Given the description of an element on the screen output the (x, y) to click on. 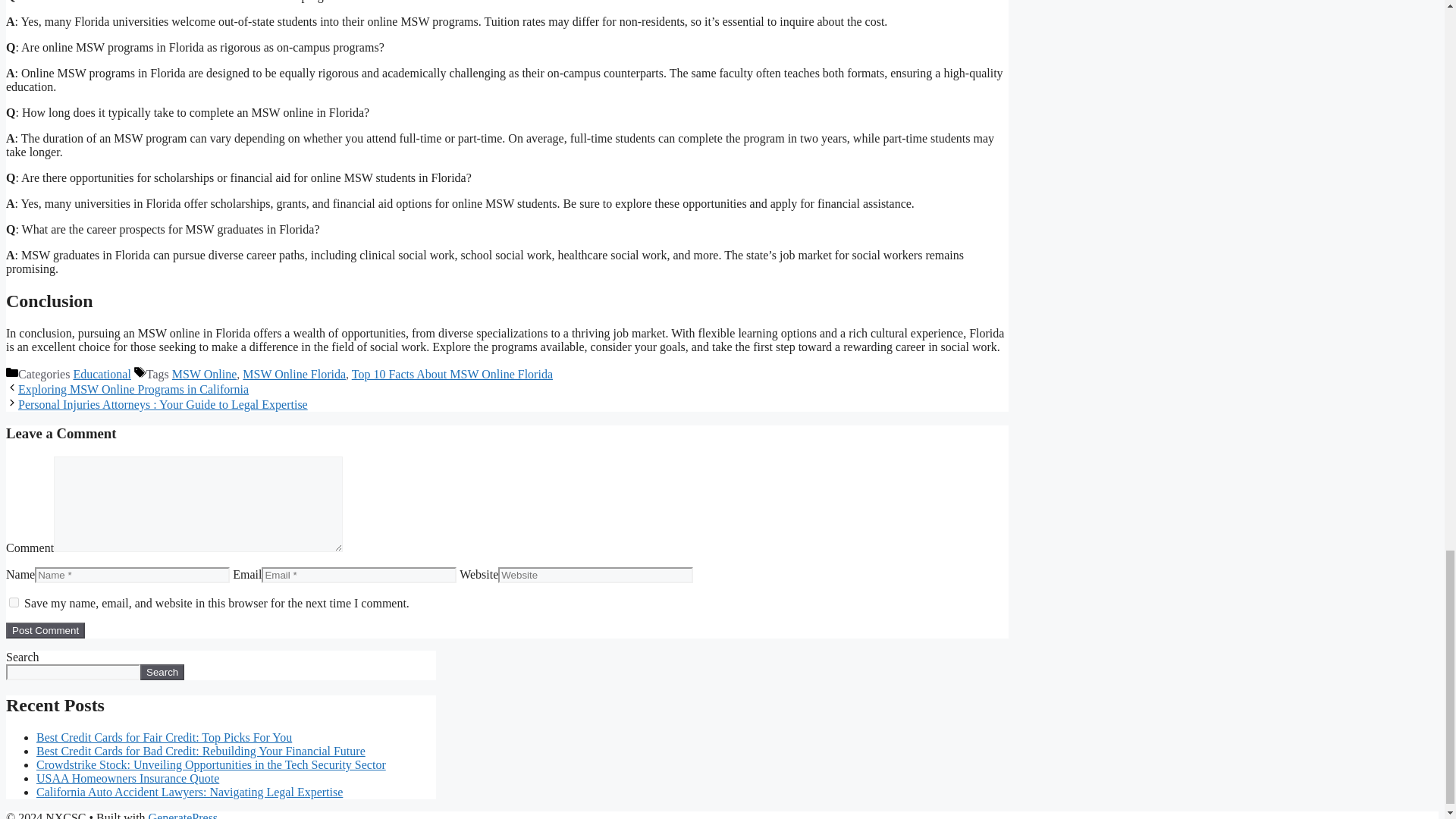
Educational (101, 373)
yes (13, 602)
Exploring MSW Online Programs in California (132, 389)
Personal Injuries Attorneys : Your Guide to Legal Expertise (162, 404)
Top 10 Facts About MSW Online Florida (452, 373)
Post Comment (44, 630)
MSW Online Florida (294, 373)
Search (161, 672)
Post Comment (44, 630)
MSW Online (203, 373)
